Given the description of an element on the screen output the (x, y) to click on. 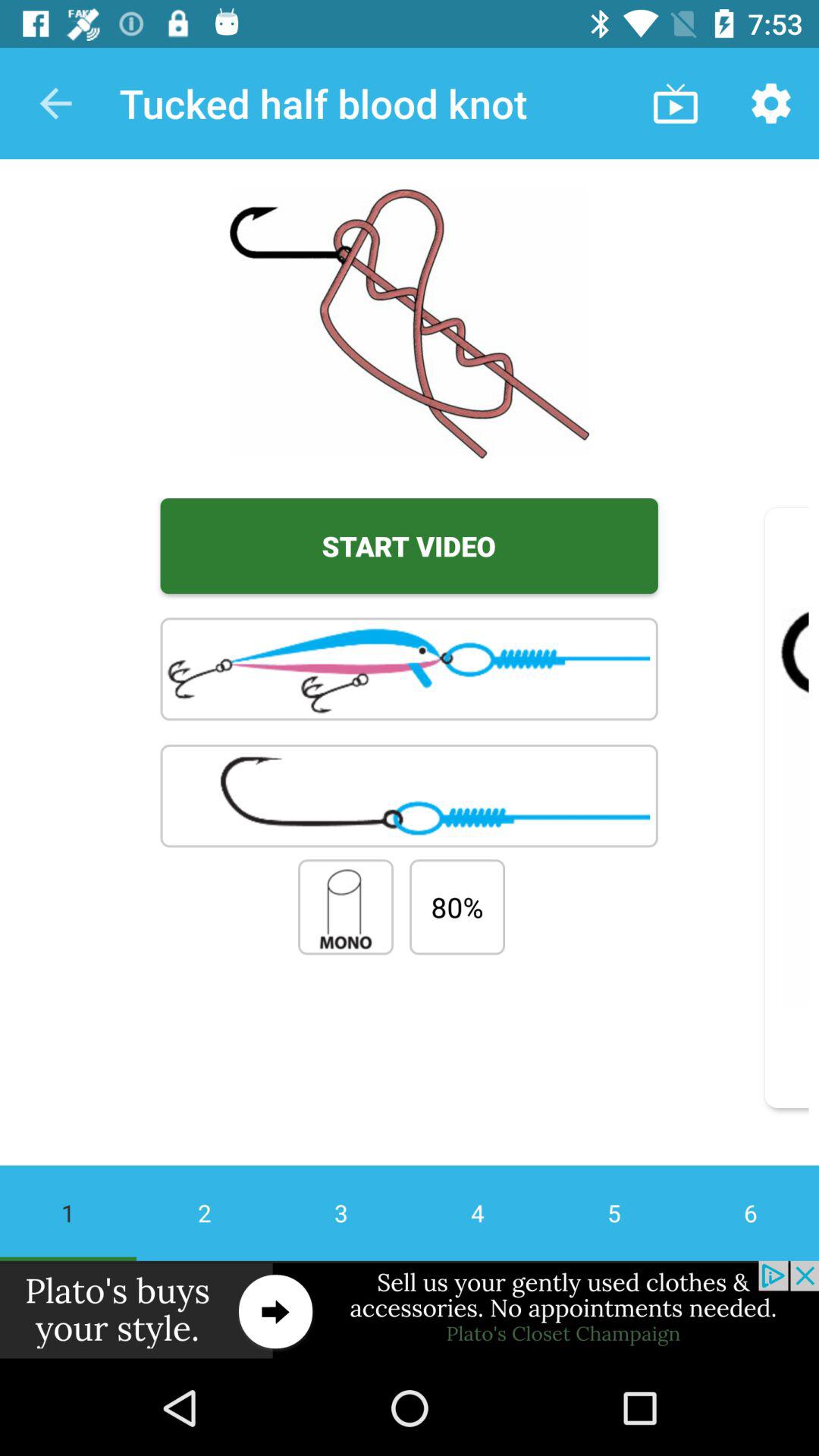
select the image above start video (409, 324)
